Given the description of an element on the screen output the (x, y) to click on. 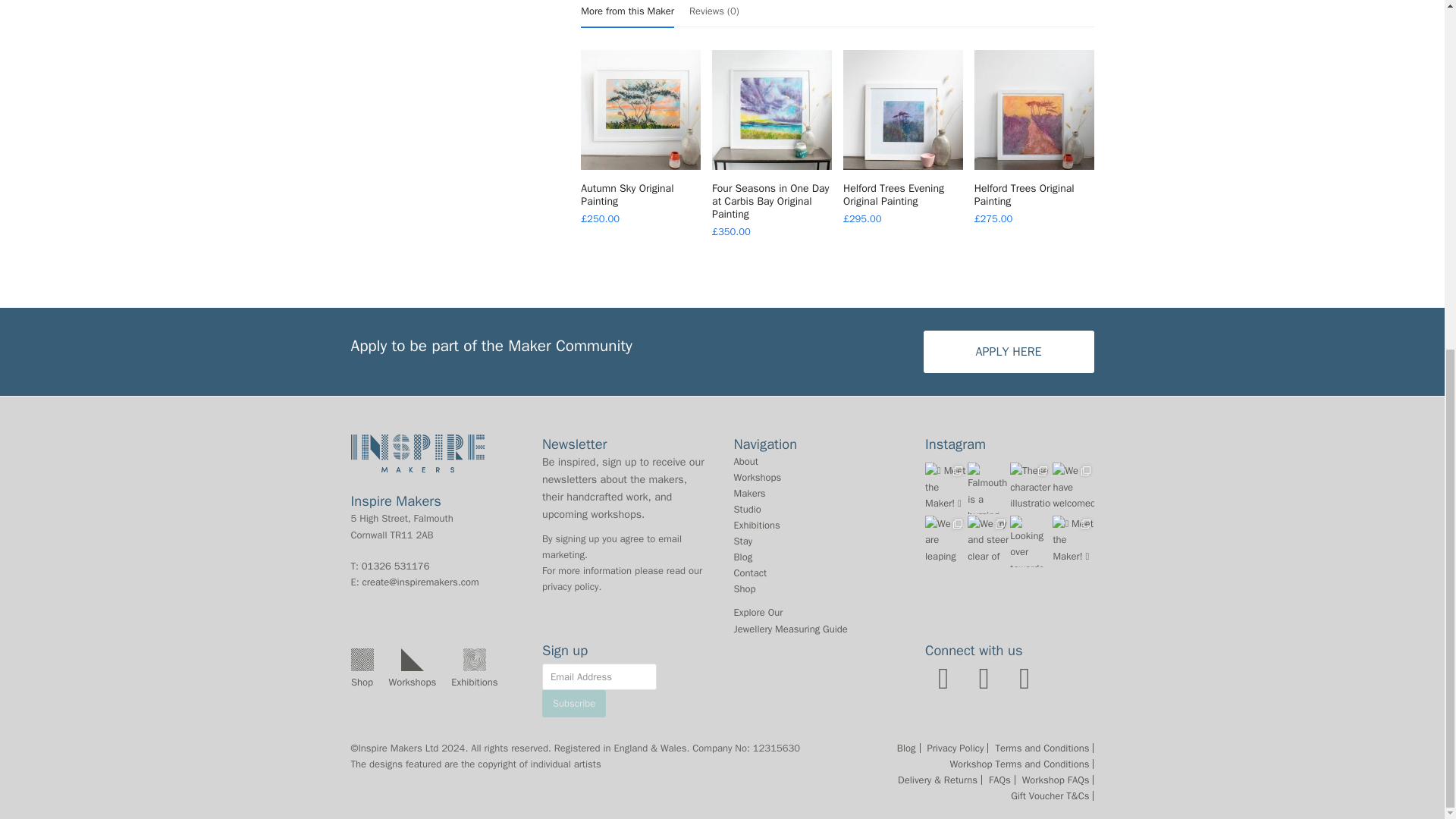
Facebook (984, 678)
Subscribe (573, 703)
Pinterest (1024, 678)
Instagram (943, 678)
Inspire Makers Logo-footer (416, 453)
